Given the description of an element on the screen output the (x, y) to click on. 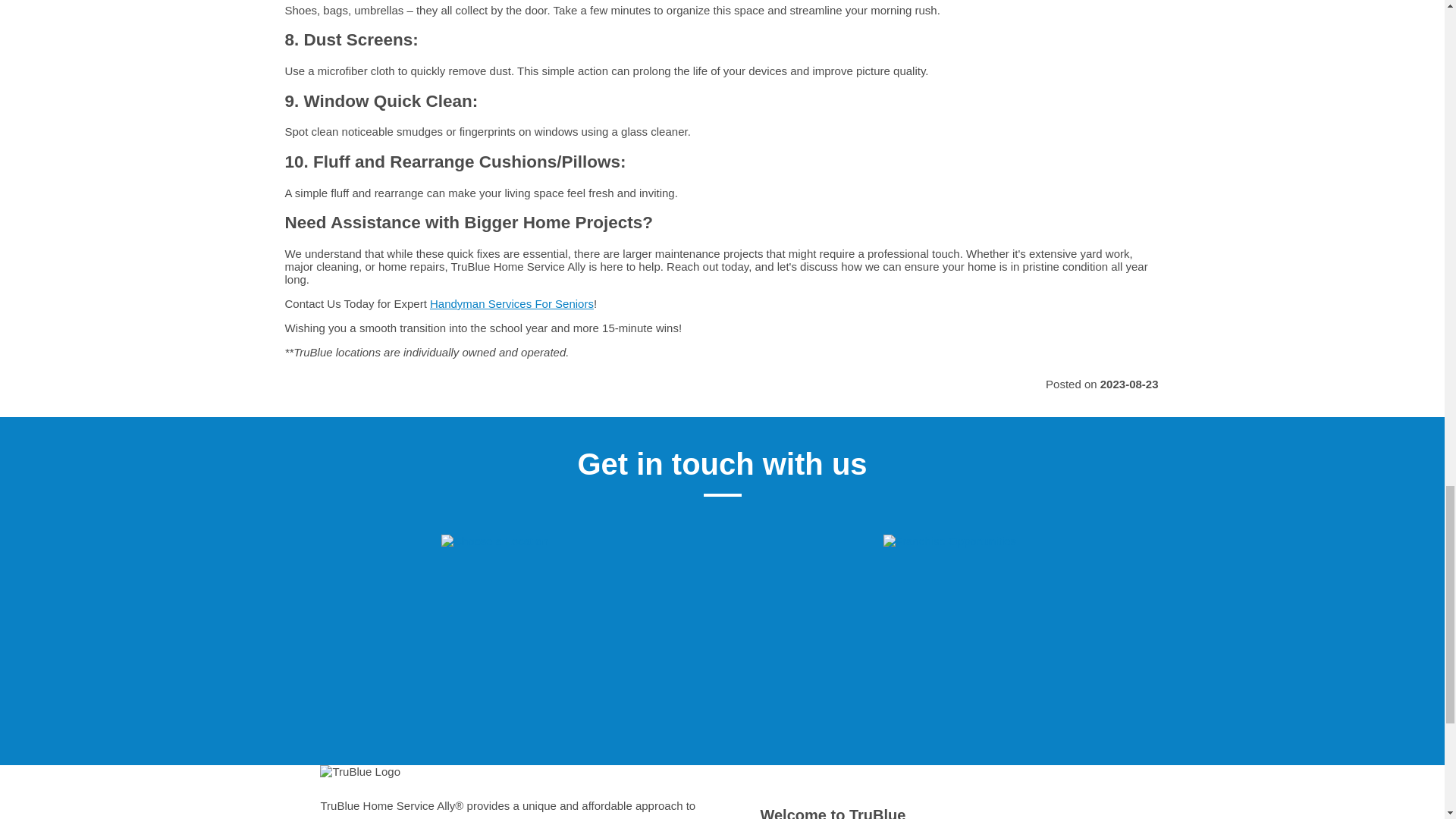
Handyman Services For Seniors (511, 303)
